Given the description of an element on the screen output the (x, y) to click on. 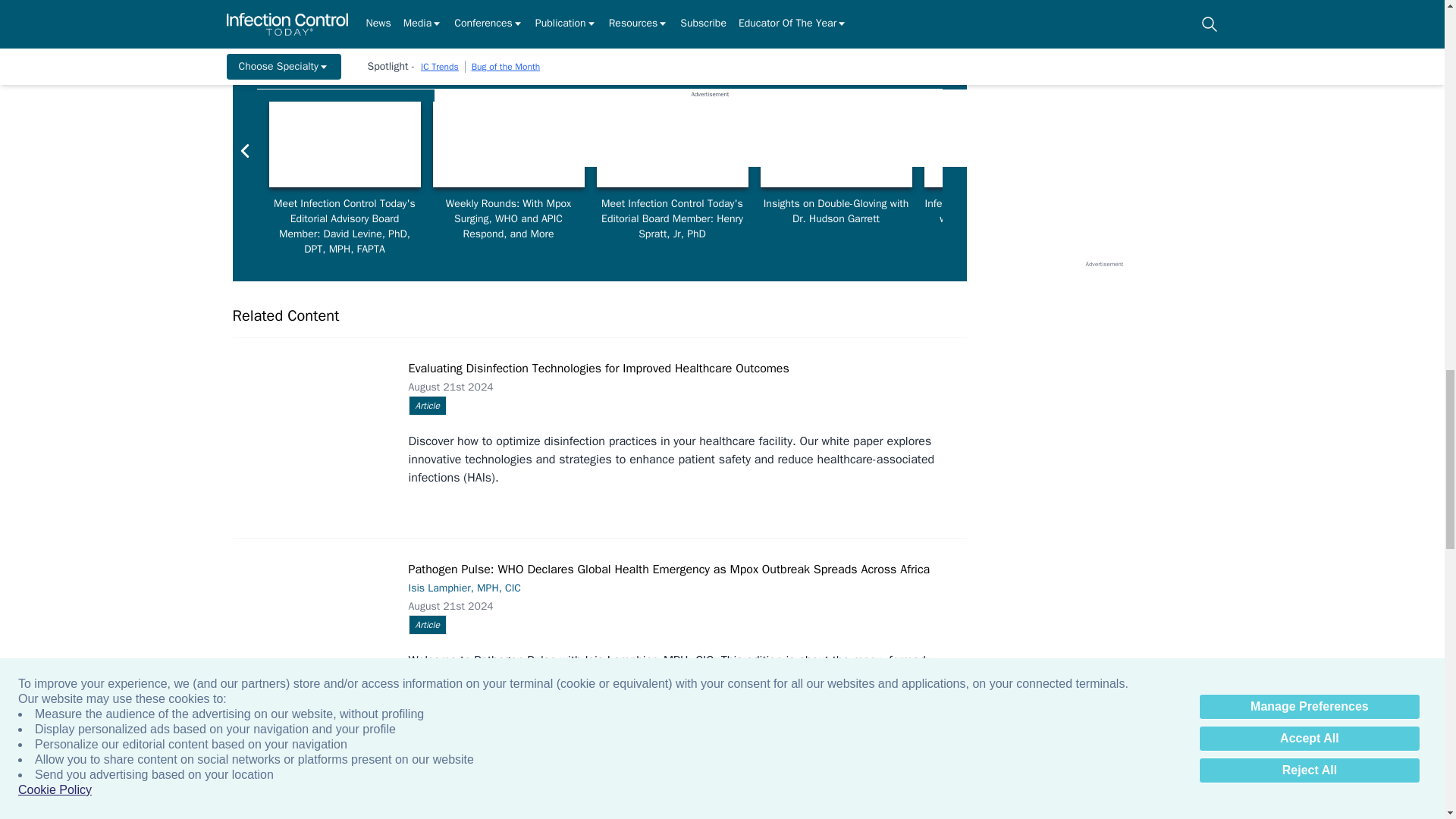
David Levine, PhD, DPT, MPH, FAPTA (343, 144)
Weekly Rounds with Infection Control Today (507, 144)
Insights on Double-Gloving with Dr. Hudson Garrett (835, 144)
